Given the description of an element on the screen output the (x, y) to click on. 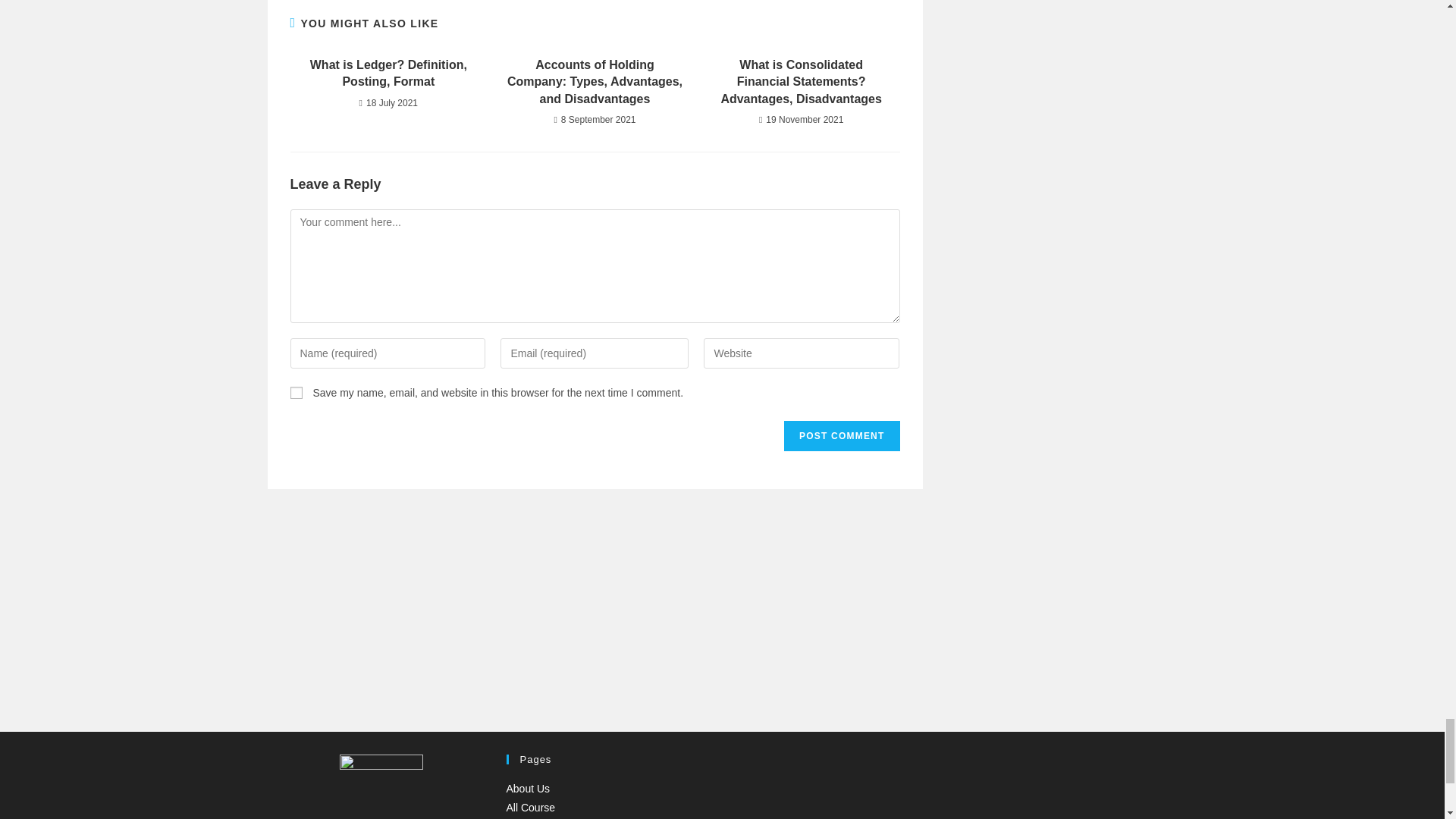
Post Comment (841, 435)
yes (295, 392)
